Given the description of an element on the screen output the (x, y) to click on. 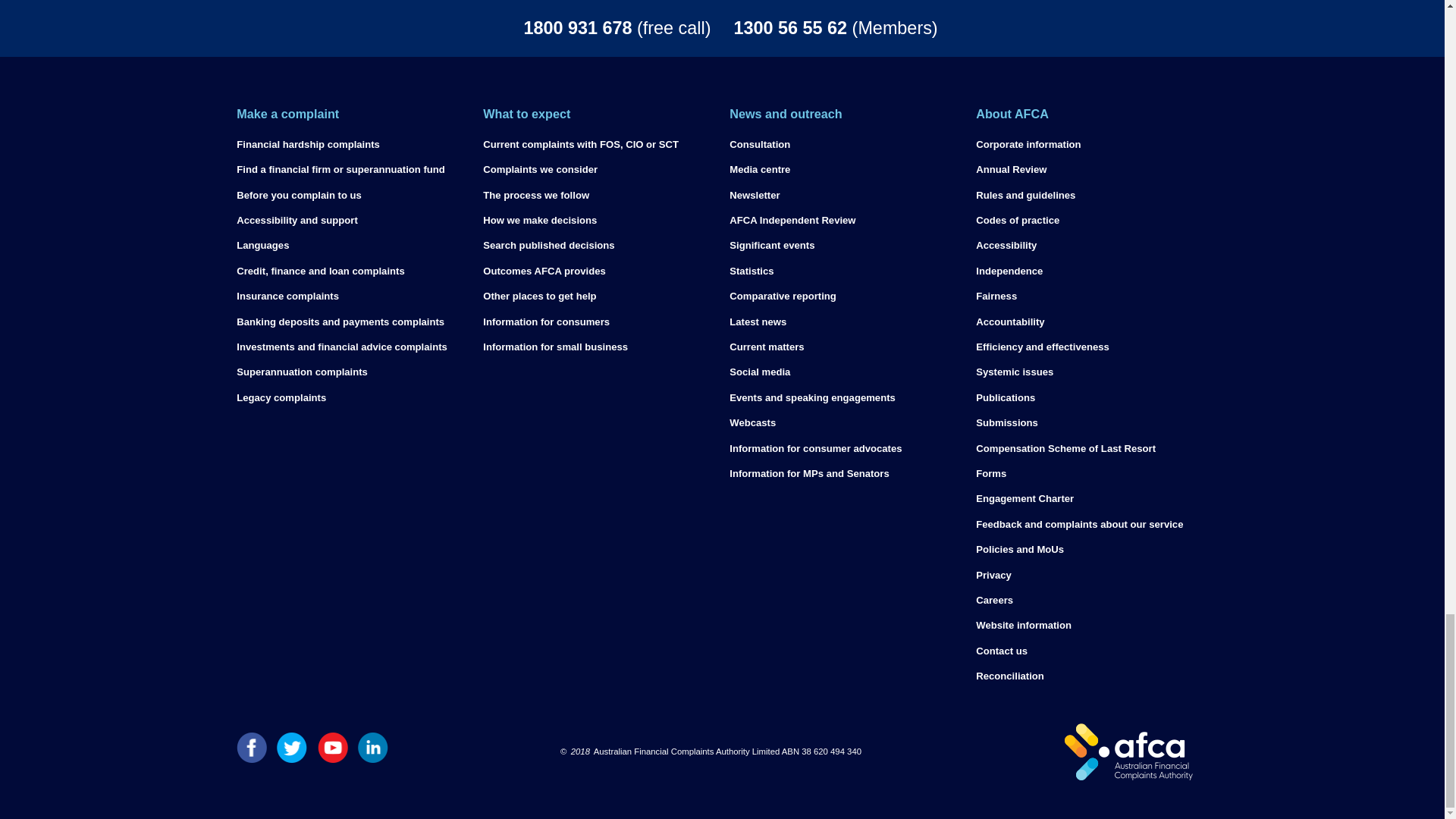
Click here to visit our Twitter Page (291, 758)
If you are not a member, click here to call us (511, 27)
Click here to visit our YouTube Page (332, 758)
Click here to visit our LinkedIn Page (373, 758)
Click here to visit our Facebook Page (250, 758)
If you are already a member, click here to call us (932, 27)
